Given the description of an element on the screen output the (x, y) to click on. 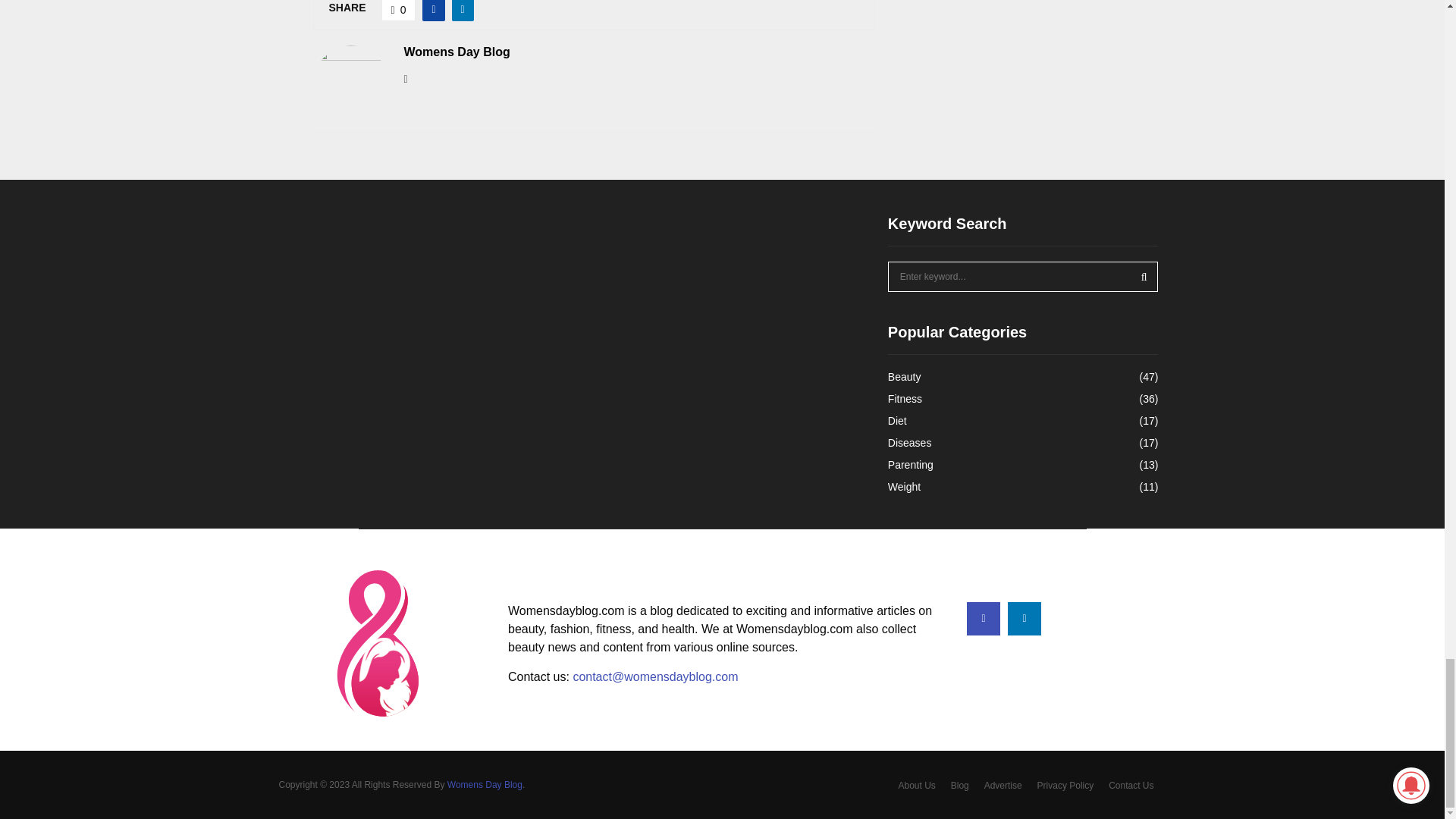
Like (398, 10)
